Given the description of an element on the screen output the (x, y) to click on. 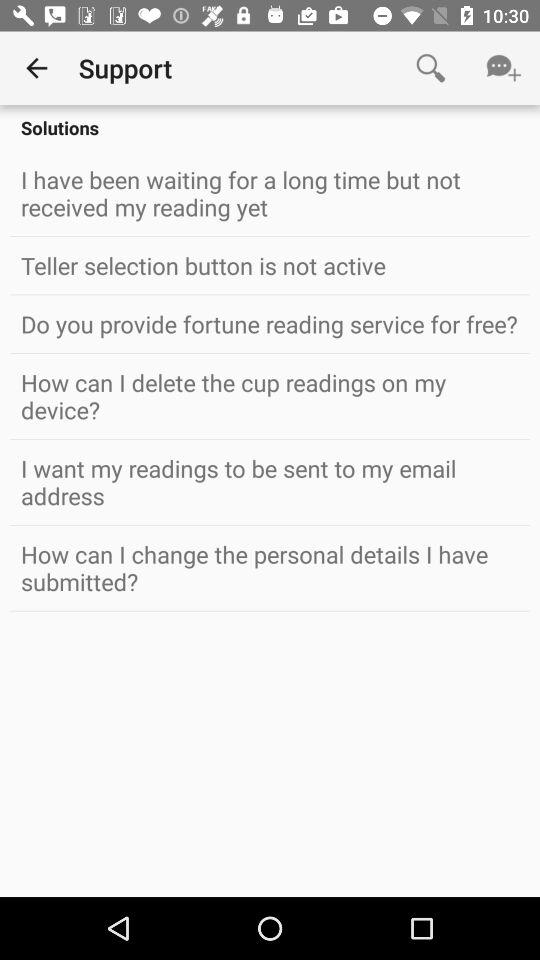
launch icon below i have been (269, 265)
